Given the description of an element on the screen output the (x, y) to click on. 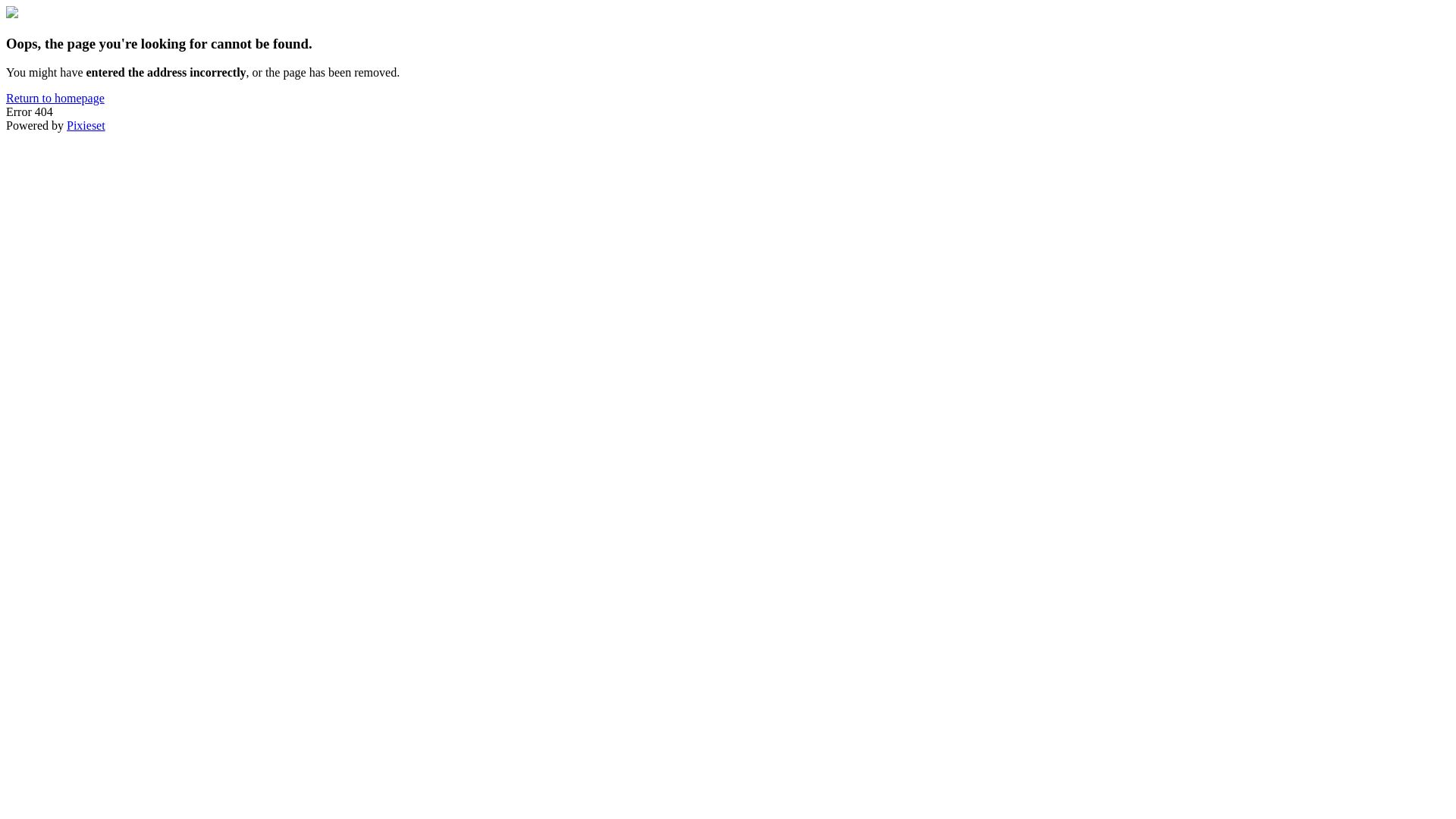
Return to homepage Element type: text (55, 97)
Pixieset Element type: text (85, 125)
